Given the description of an element on the screen output the (x, y) to click on. 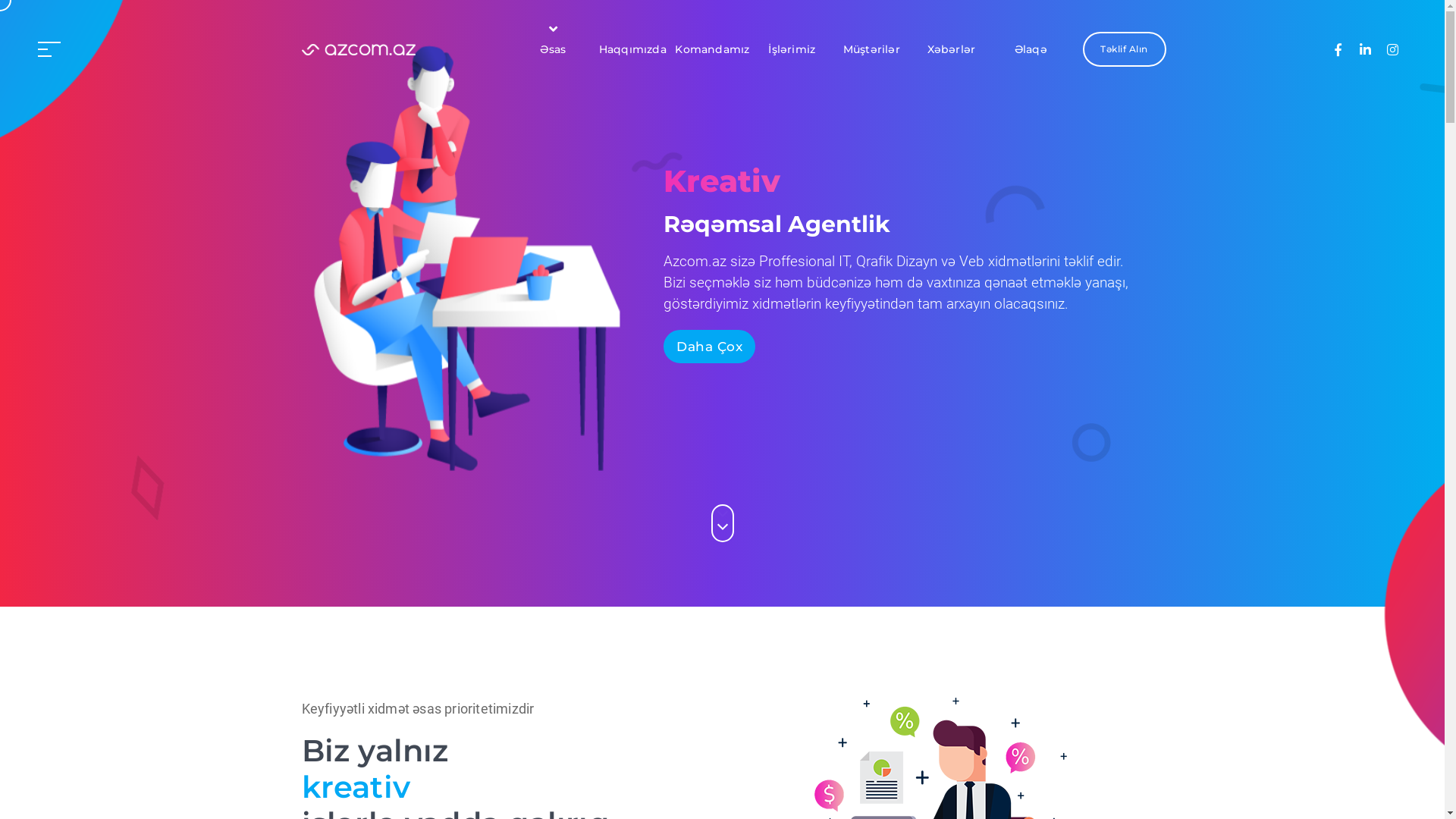
www.azcom.az Element type: hover (358, 49)
